Given the description of an element on the screen output the (x, y) to click on. 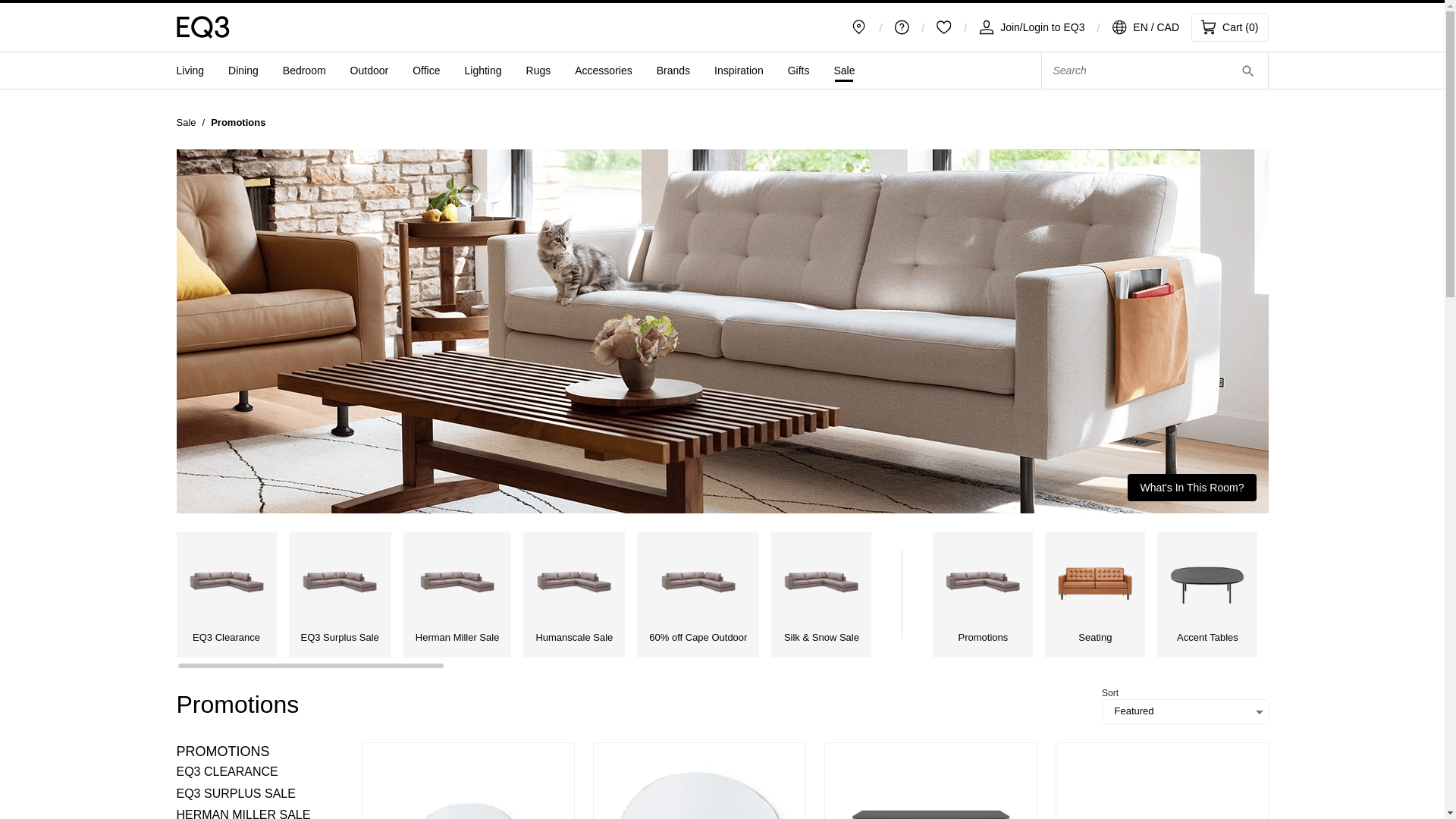
What'S In This Room? (1190, 488)
Rugs (538, 70)
Gifts (798, 70)
Lighting (483, 70)
Bedroom (304, 70)
Sale (185, 122)
Brands (673, 70)
Inspiration (738, 70)
Store Finder (858, 26)
Outdoor (369, 70)
